Given the description of an element on the screen output the (x, y) to click on. 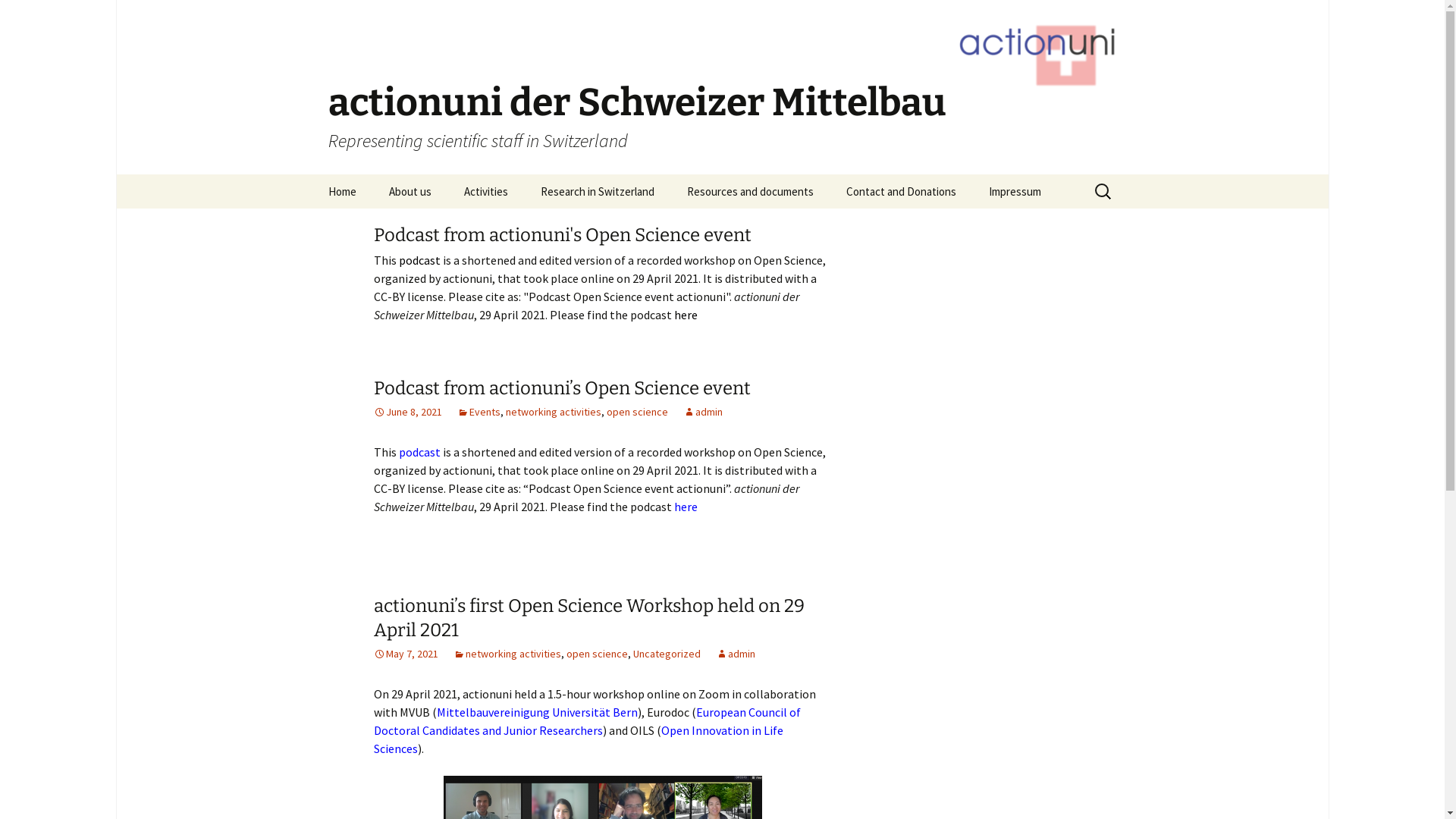
networking activities Element type: text (552, 411)
open science Element type: text (596, 653)
Search Element type: text (18, 16)
Resources and documents Element type: text (749, 191)
Networking activities Element type: text (524, 225)
here Element type: text (684, 506)
here Element type: text (684, 314)
podcast Element type: text (419, 451)
open science Element type: text (637, 411)
Board members Element type: text (448, 225)
admin Element type: text (701, 411)
Skip to content Element type: text (312, 174)
Uncategorized Element type: text (665, 653)
podcast Element type: text (419, 259)
networking activities Element type: text (507, 653)
Home Element type: text (341, 191)
May 7, 2021 Element type: text (405, 653)
Research in Switzerland Element type: text (596, 191)
Open Innovation in Life Sciences Element type: text (577, 739)
Events Element type: text (477, 411)
admin Element type: text (735, 653)
June 8, 2021 Element type: text (407, 411)
Activities Element type: text (485, 191)
About us Element type: text (409, 191)
Contact and Donations Element type: text (901, 191)
Impressum Element type: text (1014, 191)
PhD / Doctorate Element type: text (600, 225)
